Given the description of an element on the screen output the (x, y) to click on. 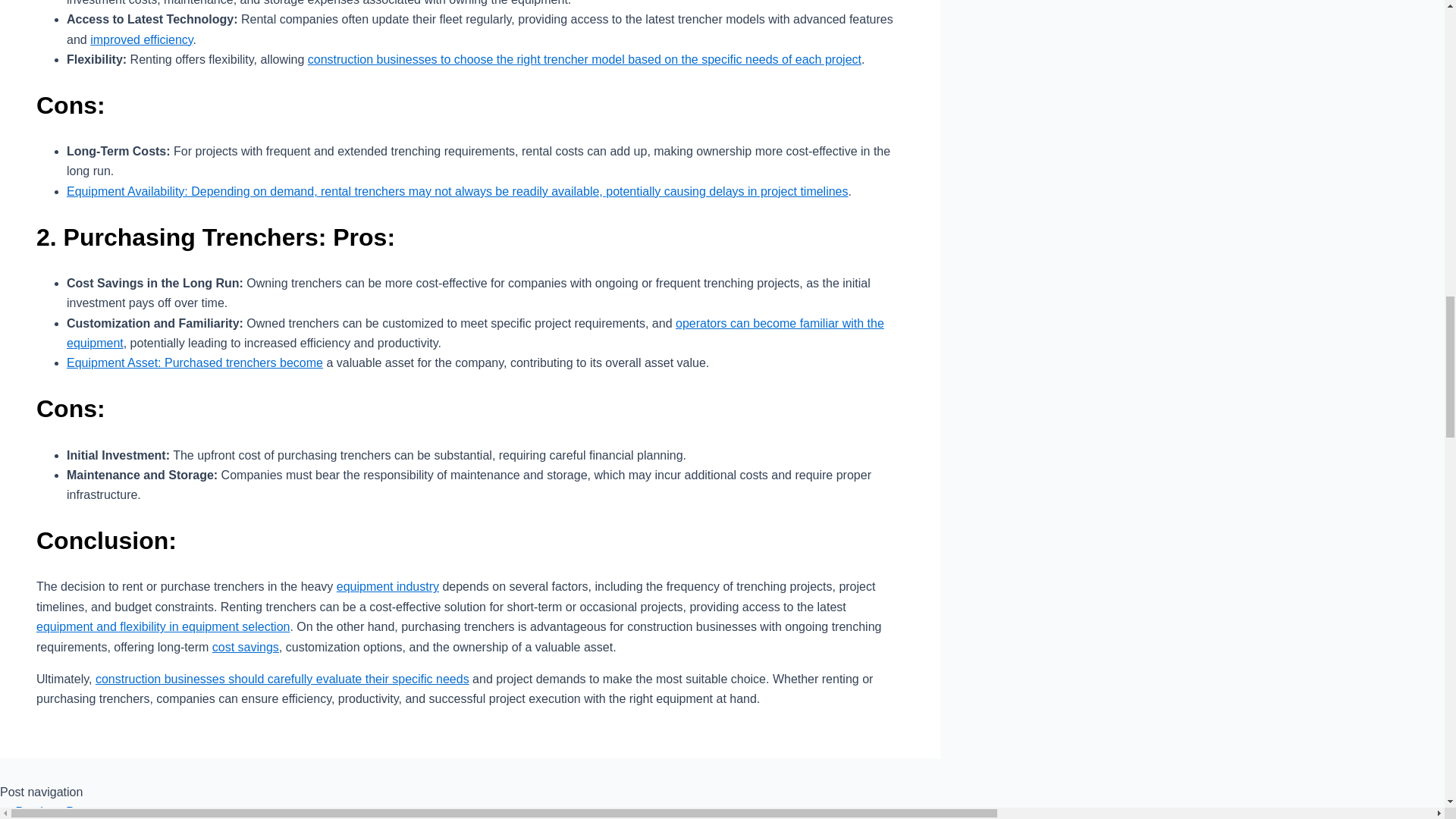
Equipment Asset: Purchased trenchers become (194, 362)
equipment industry (387, 585)
cost savings (245, 646)
operators can become familiar with the equipment (474, 332)
equipment and flexibility in equipment selection (162, 626)
improved efficiency (141, 39)
